Given the description of an element on the screen output the (x, y) to click on. 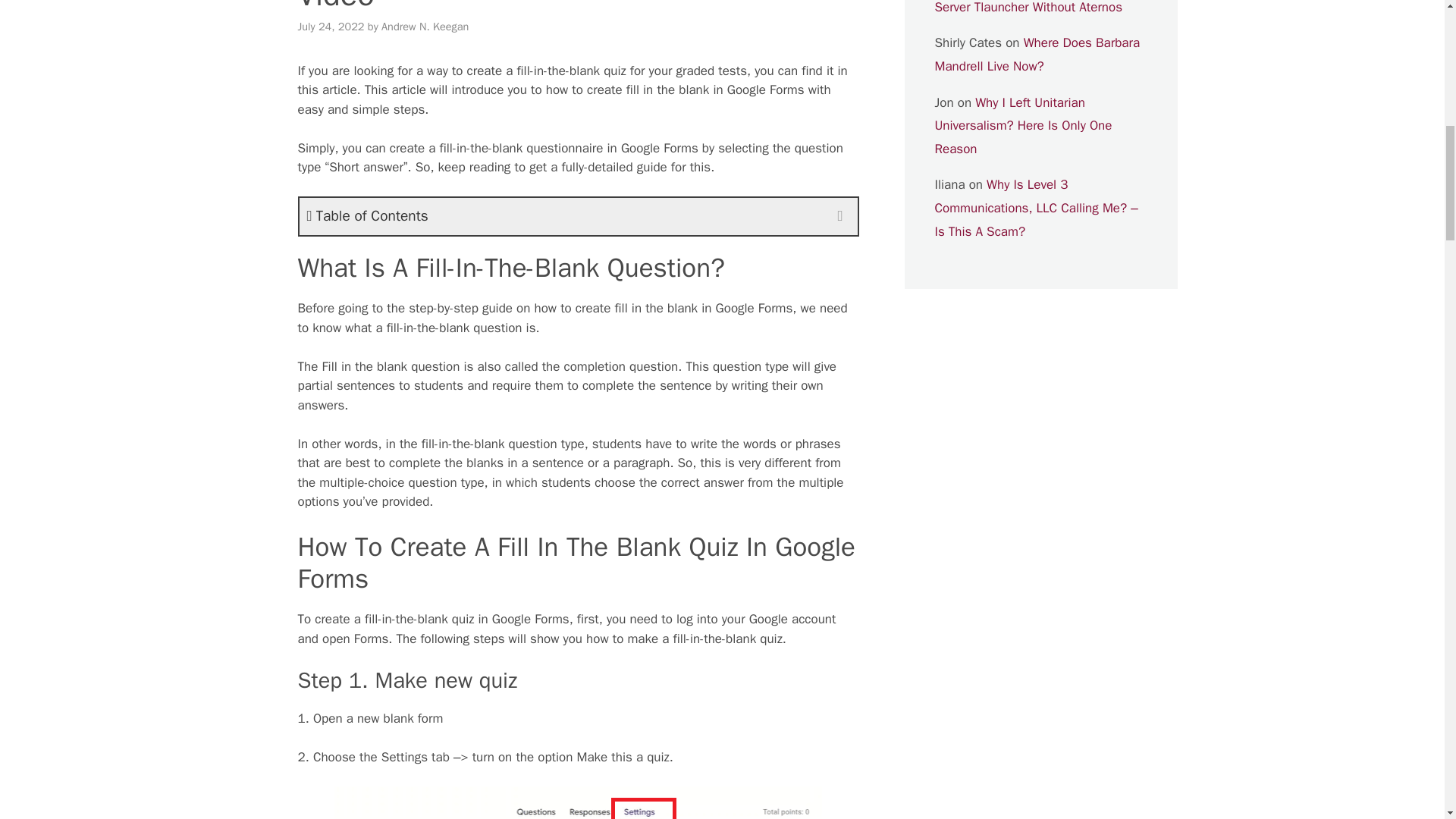
View all posts by Andrew N. Keegan (424, 26)
Andrew N. Keegan (424, 26)
Scroll back to top (1406, 720)
